Given the description of an element on the screen output the (x, y) to click on. 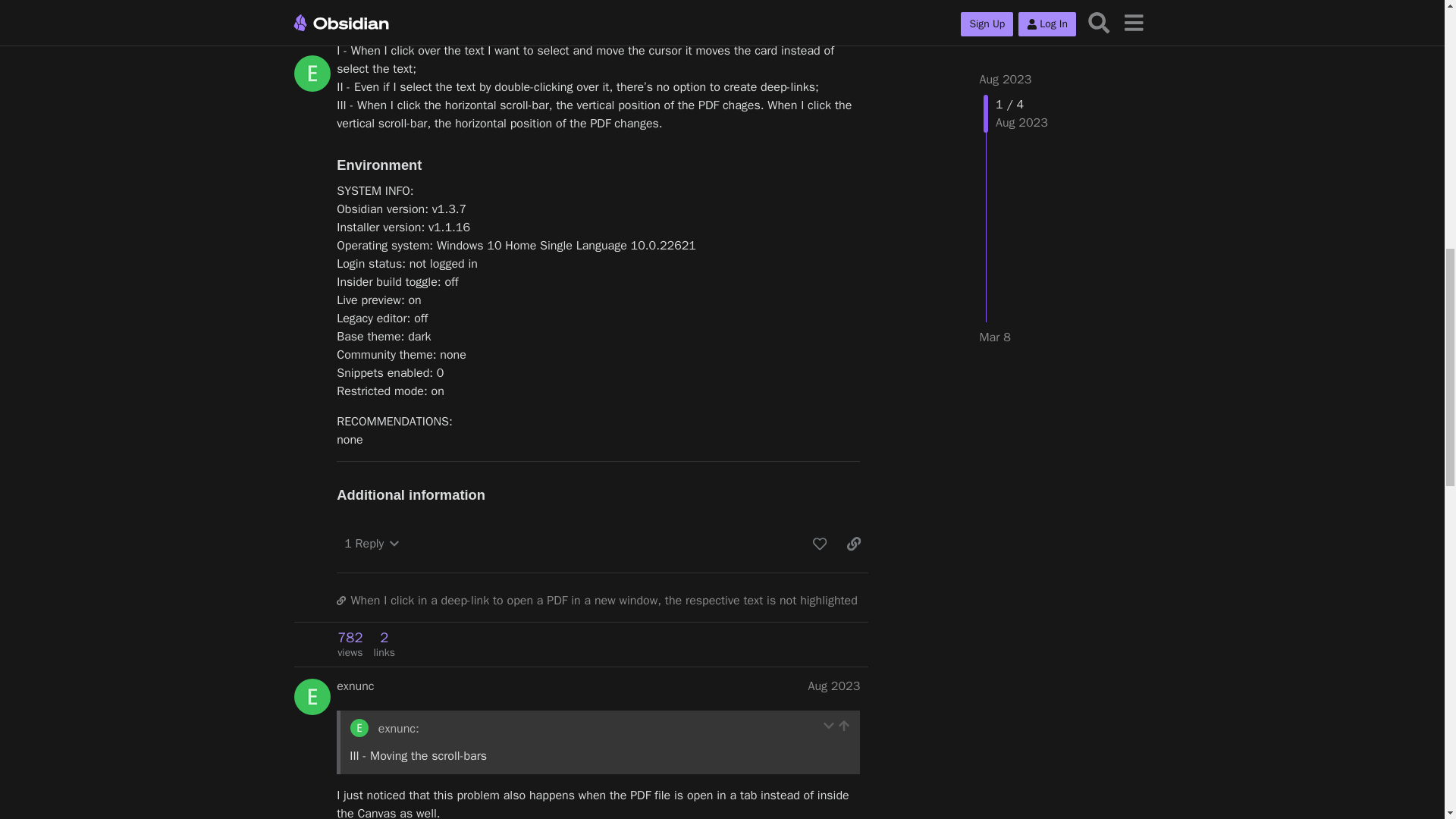
Post date (834, 685)
1 Reply (371, 543)
Aug 2023 (834, 685)
exnunc (355, 686)
like this post (819, 543)
go to the quoted post (844, 725)
copy a link to this post to clipboard (853, 543)
